Given the description of an element on the screen output the (x, y) to click on. 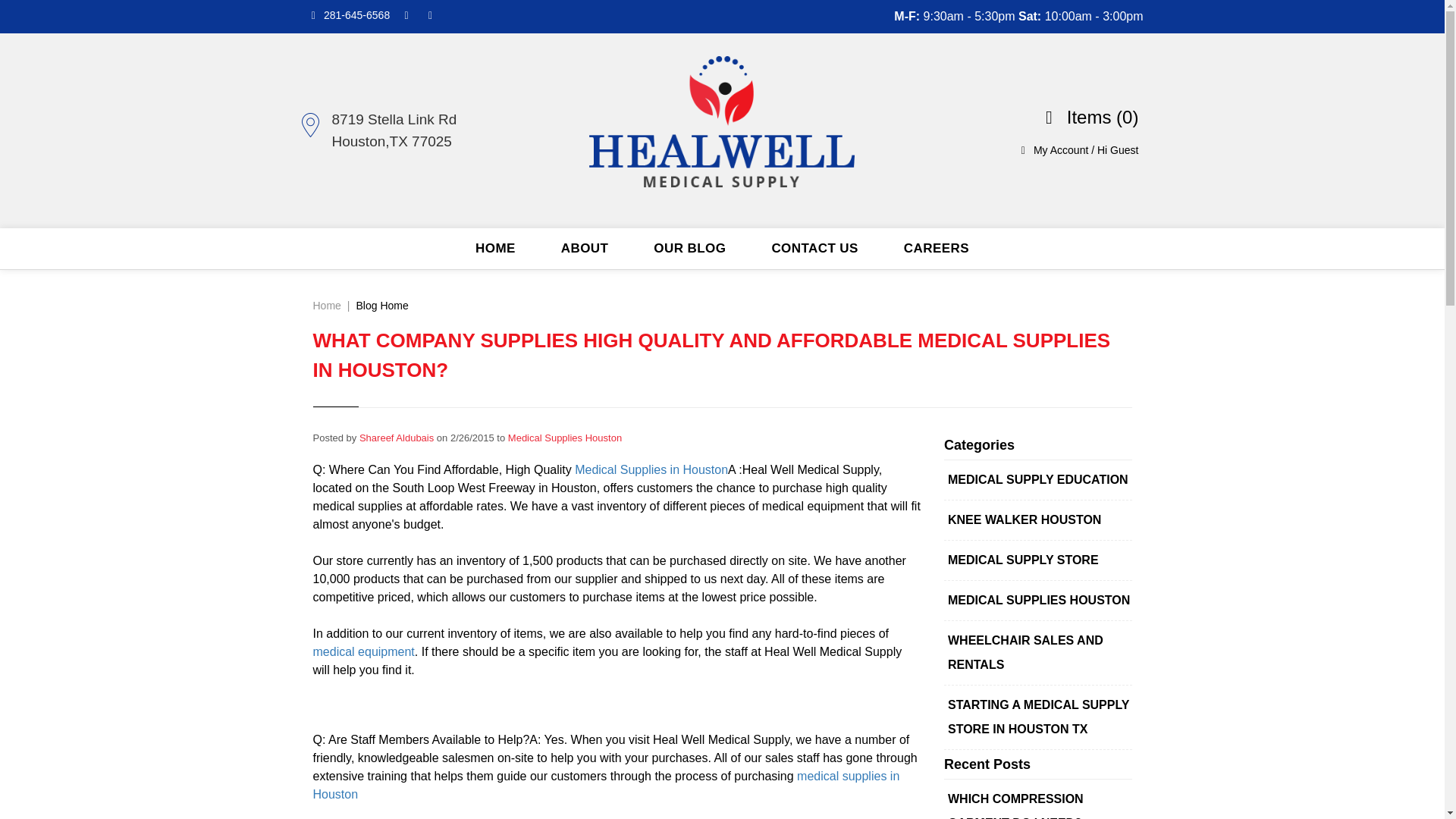
Follow Us on Instagram (430, 15)
OUR BLOG (689, 248)
CONTACT US (814, 248)
CAREERS (935, 248)
8719 Stella Link Rd Houston,TX 77025 (382, 130)
Google Plus Profile for Shareef Aldubais (396, 437)
Medical Supplies Houston (564, 437)
Home (326, 305)
medical equipment (363, 651)
Blog Home (382, 305)
HOME (495, 248)
281-645-6568 (347, 15)
Shareef Aldubais (396, 437)
ABOUT (584, 248)
Medical Supplies in Houston (651, 469)
